Given the description of an element on the screen output the (x, y) to click on. 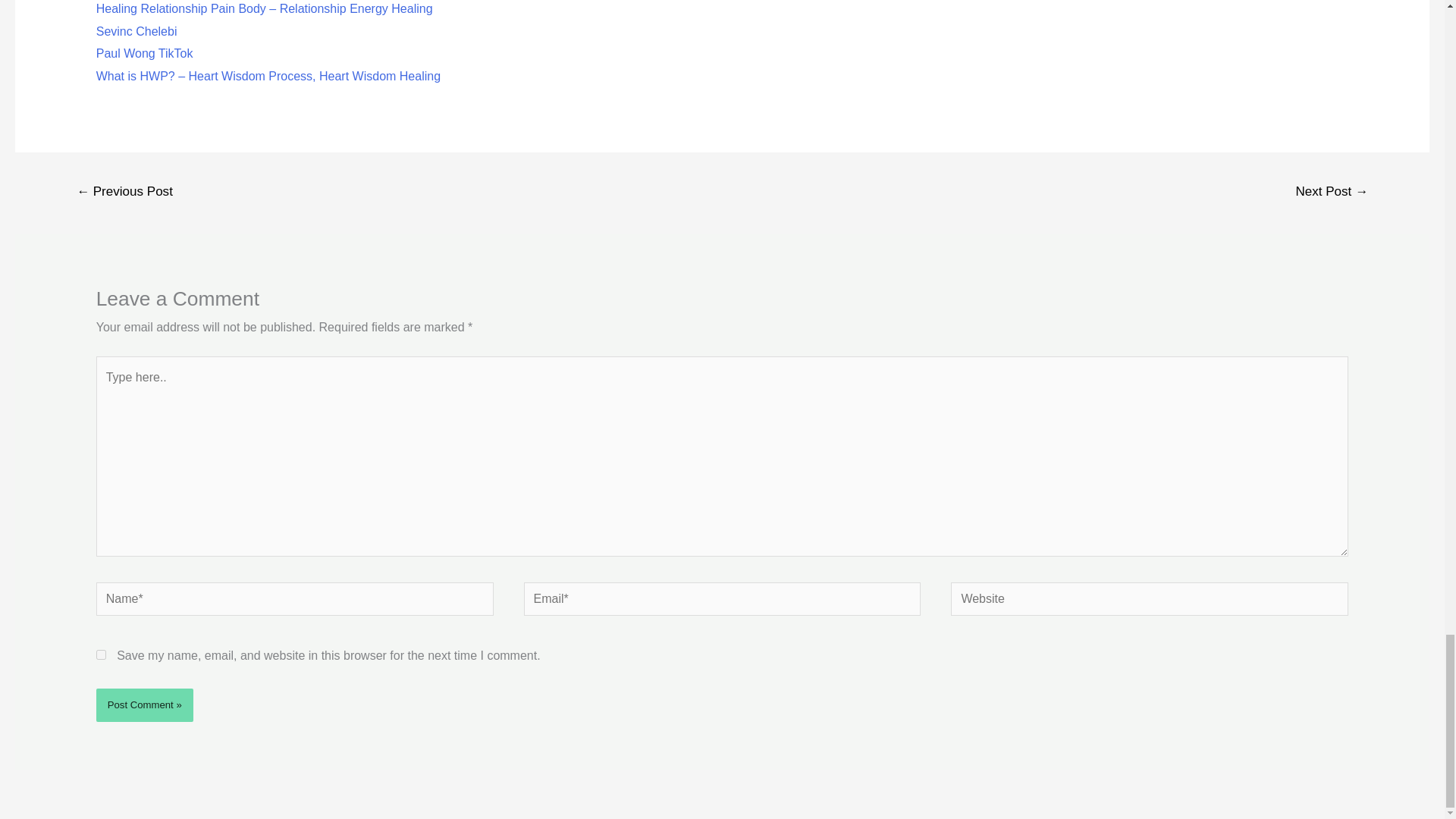
Sevinc Chelebi (136, 31)
Paul Wong TikTok (144, 52)
yes (101, 655)
